Given the description of an element on the screen output the (x, y) to click on. 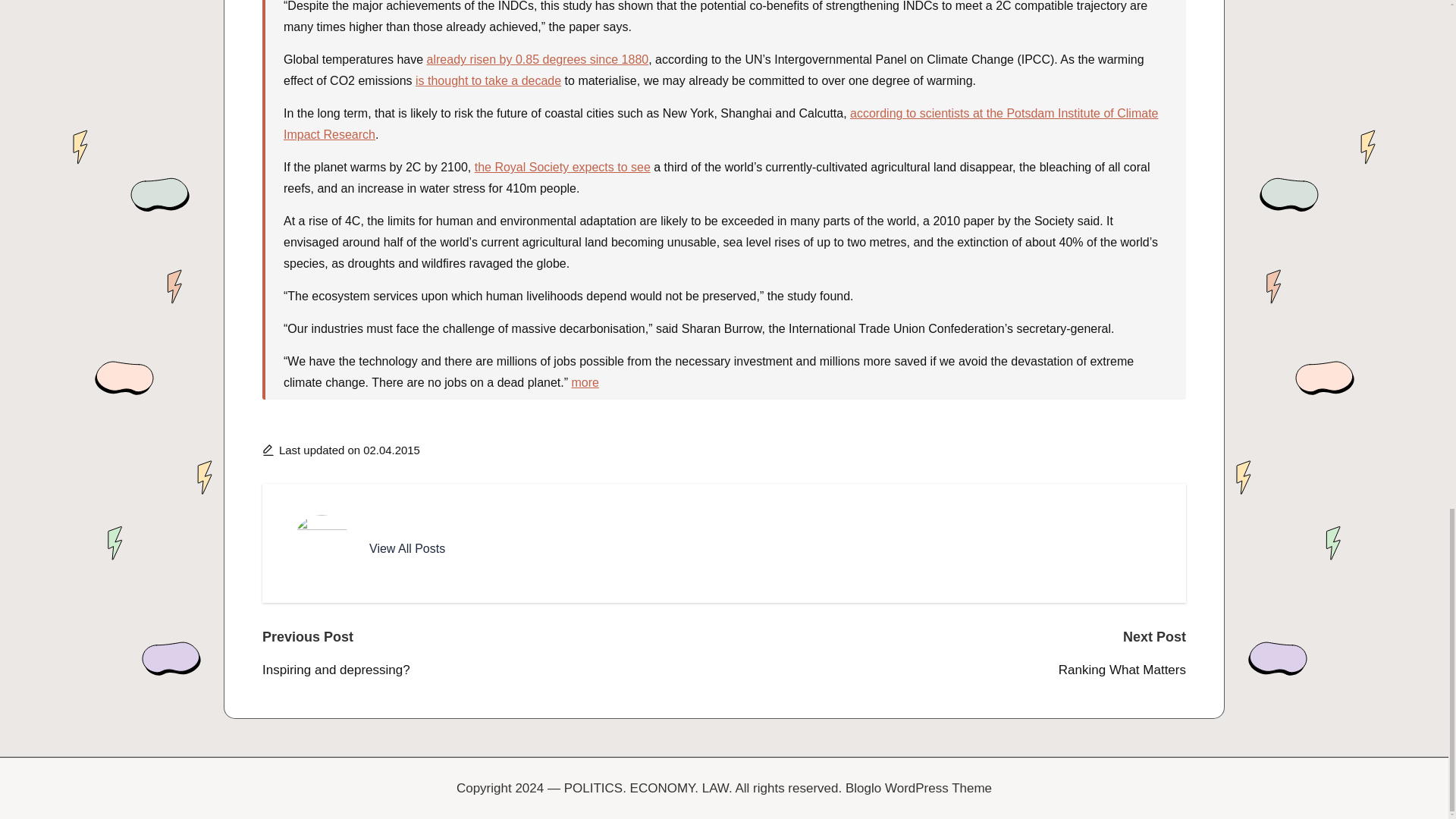
is thought to take a decade (487, 80)
already risen by 0.85 degrees since 1880 (537, 59)
Inspiring and depressing? (492, 670)
View All Posts (407, 548)
s to see (629, 166)
Ranking What Matters (954, 670)
the Royal Society expect (541, 166)
Bloglo WordPress Theme (918, 788)
more (585, 382)
